Given the description of an element on the screen output the (x, y) to click on. 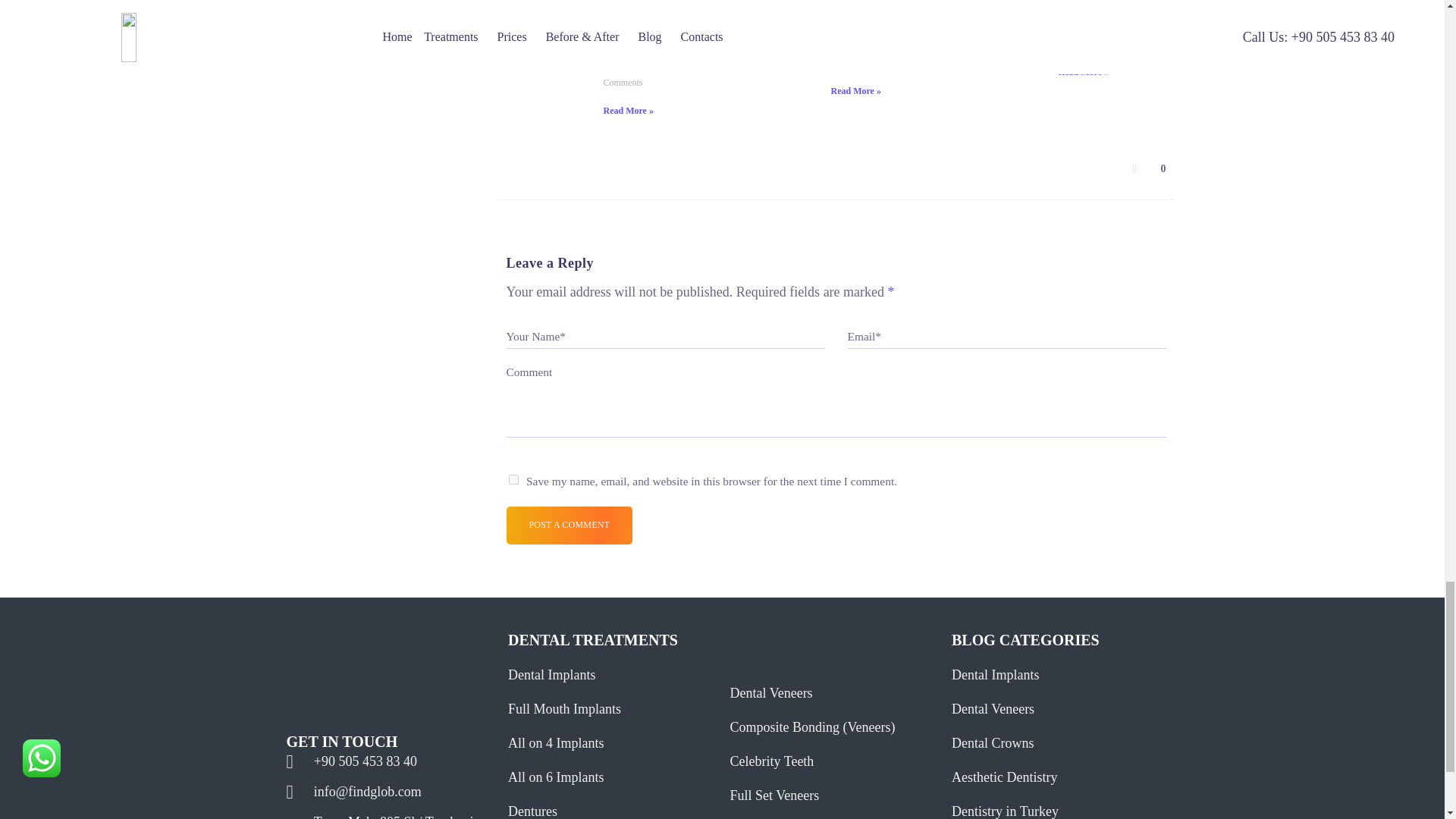
pixeldigital-04 (373, 651)
The cheapest country for All on 4 dental implants (774, 14)
yes (513, 479)
Dental tourism in Turkey (1001, 16)
Where do celebrities get their teeth done in Turkey (547, 16)
